Given the description of an element on the screen output the (x, y) to click on. 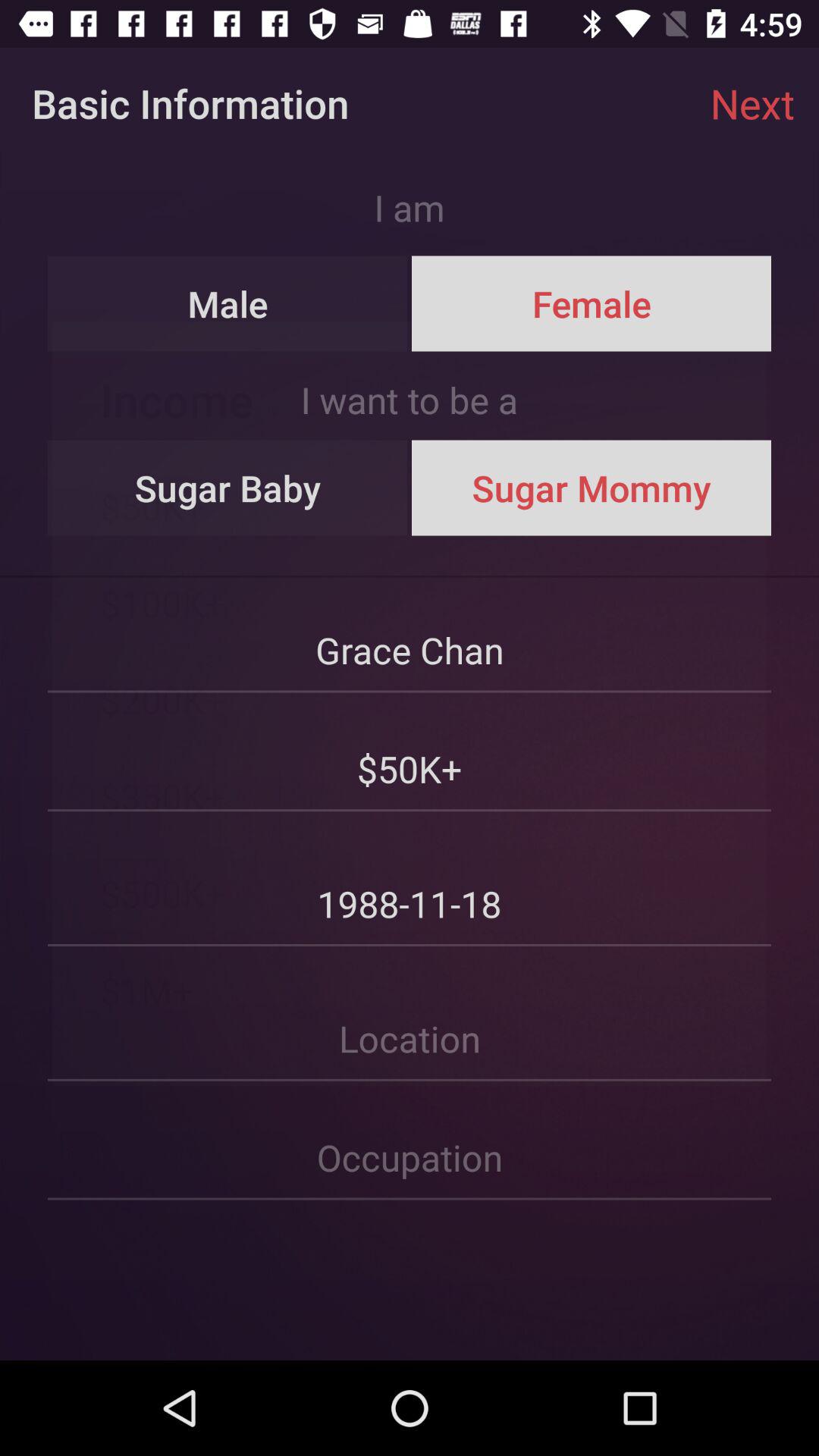
enter occupation (409, 1141)
